Given the description of an element on the screen output the (x, y) to click on. 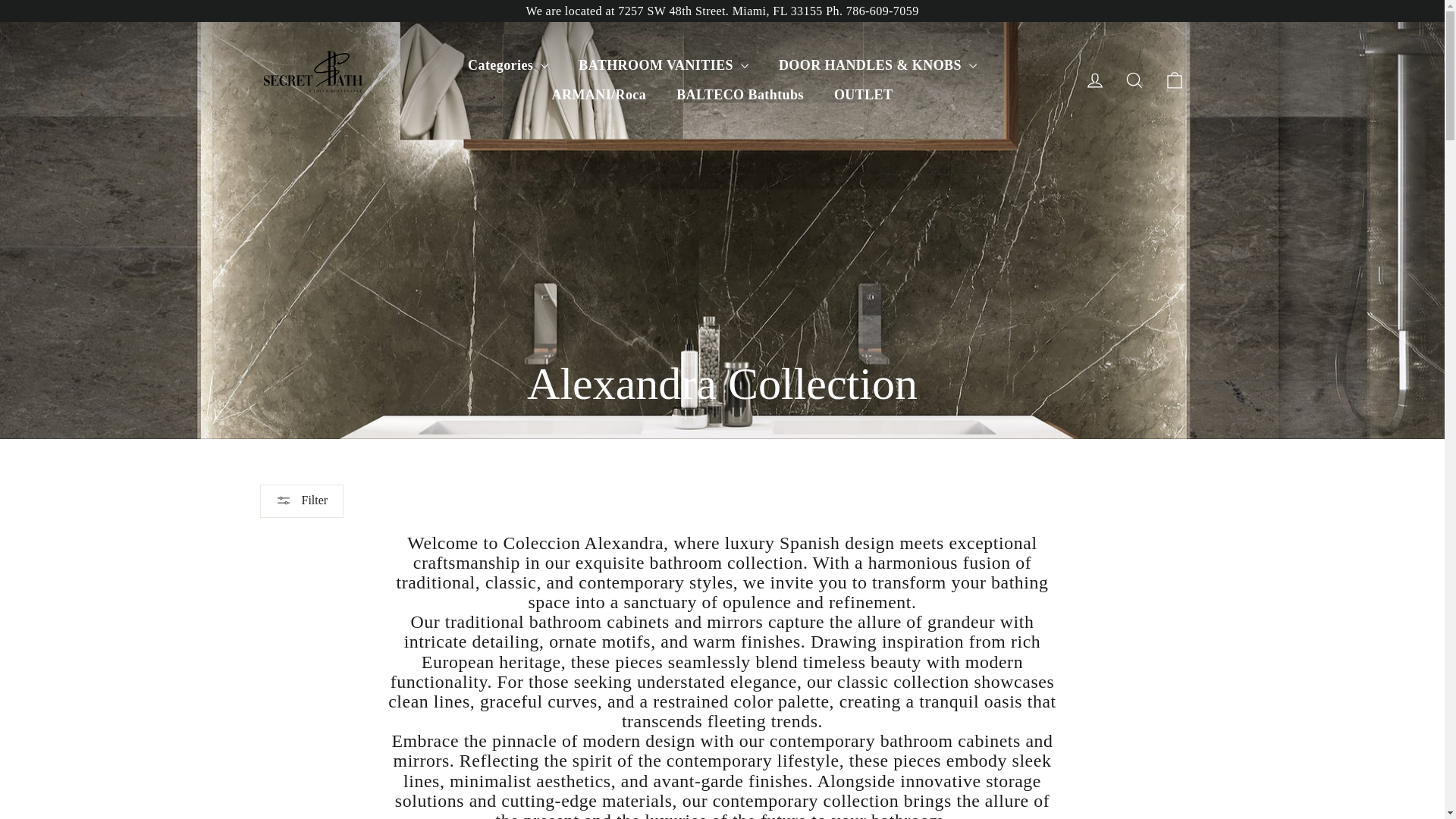
account (1094, 79)
icon-filter (283, 500)
icon-search (1134, 79)
icon-bag-minimal (1174, 79)
